Given the description of an element on the screen output the (x, y) to click on. 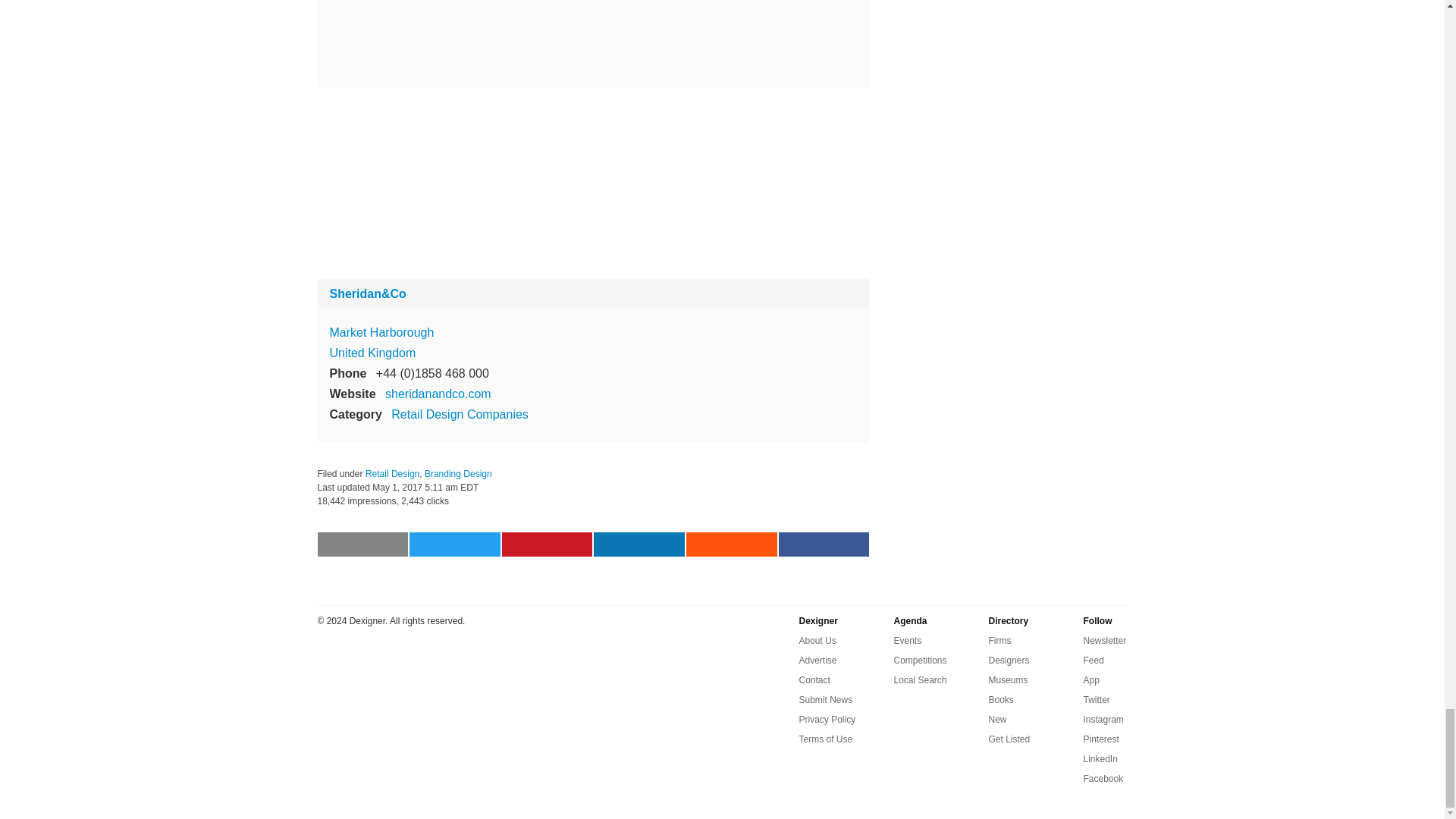
Retail Design (392, 473)
Branding Design (458, 473)
Advertise (818, 660)
Local Search (919, 679)
About Us (817, 640)
Terms of Use (826, 739)
Designers (1008, 660)
Market Harborough (381, 332)
Books (1000, 700)
Events (907, 640)
